Given the description of an element on the screen output the (x, y) to click on. 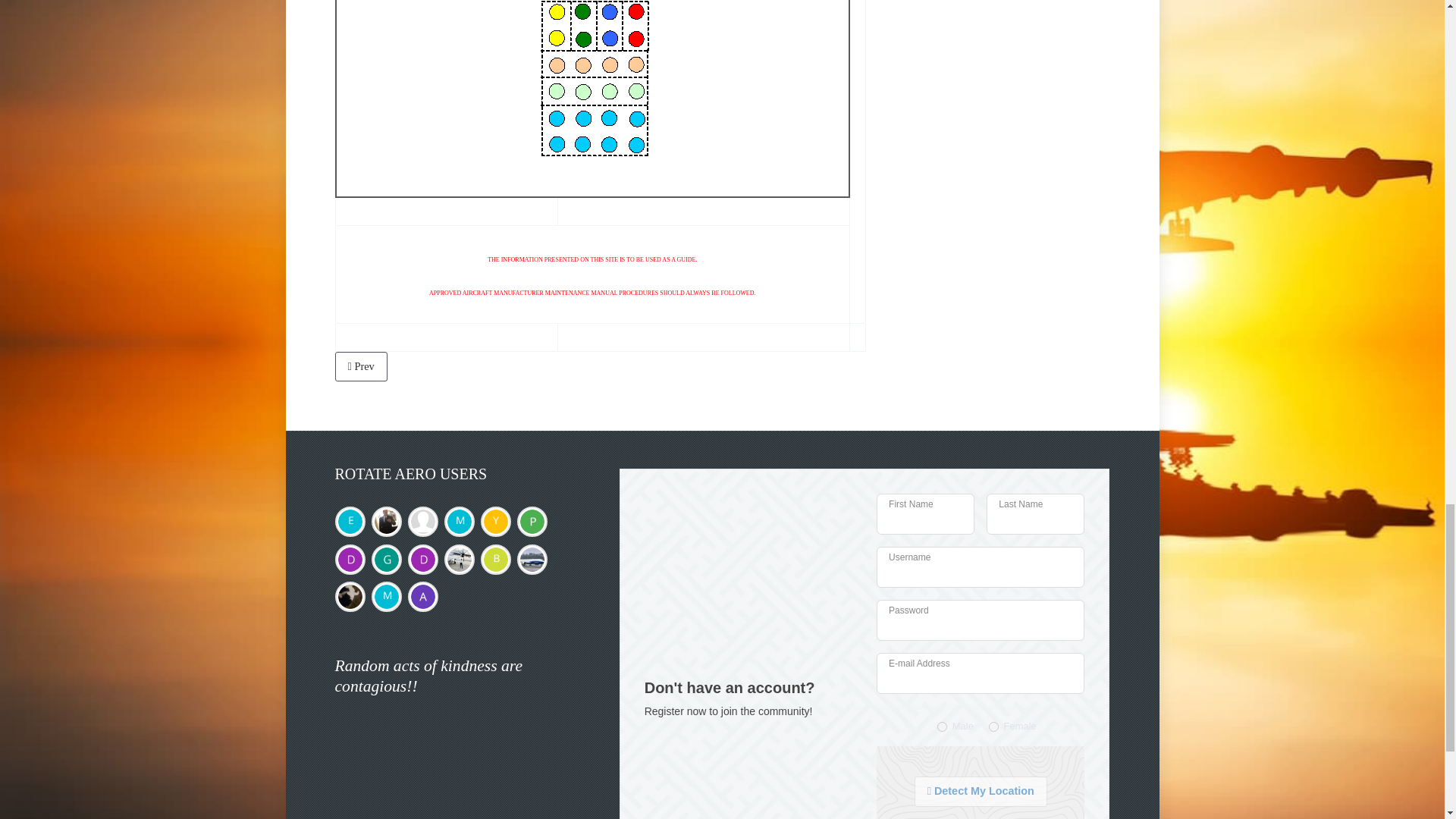
1 (942, 726)
2 (993, 726)
